Given the description of an element on the screen output the (x, y) to click on. 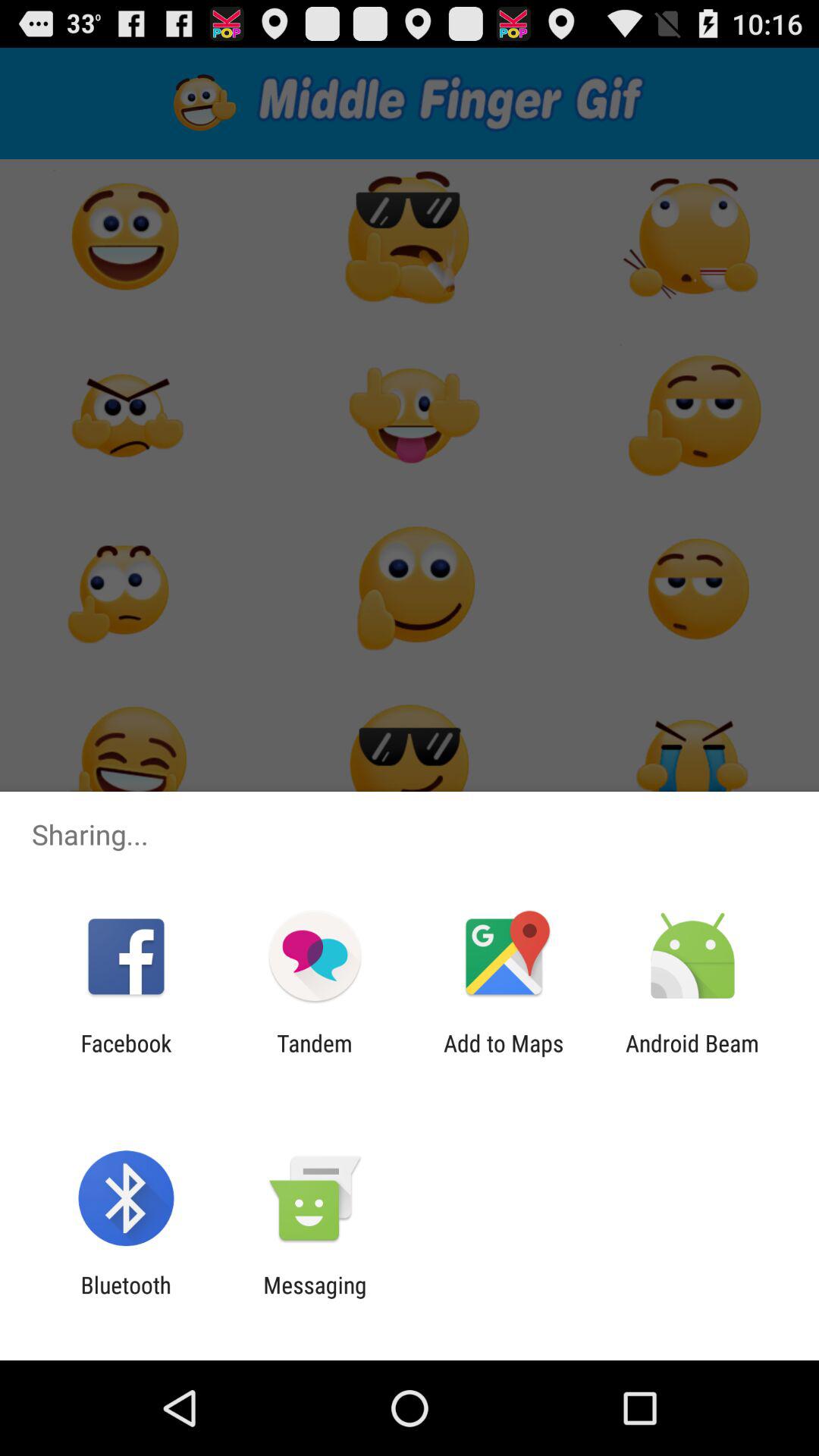
tap the tandem (314, 1056)
